Given the description of an element on the screen output the (x, y) to click on. 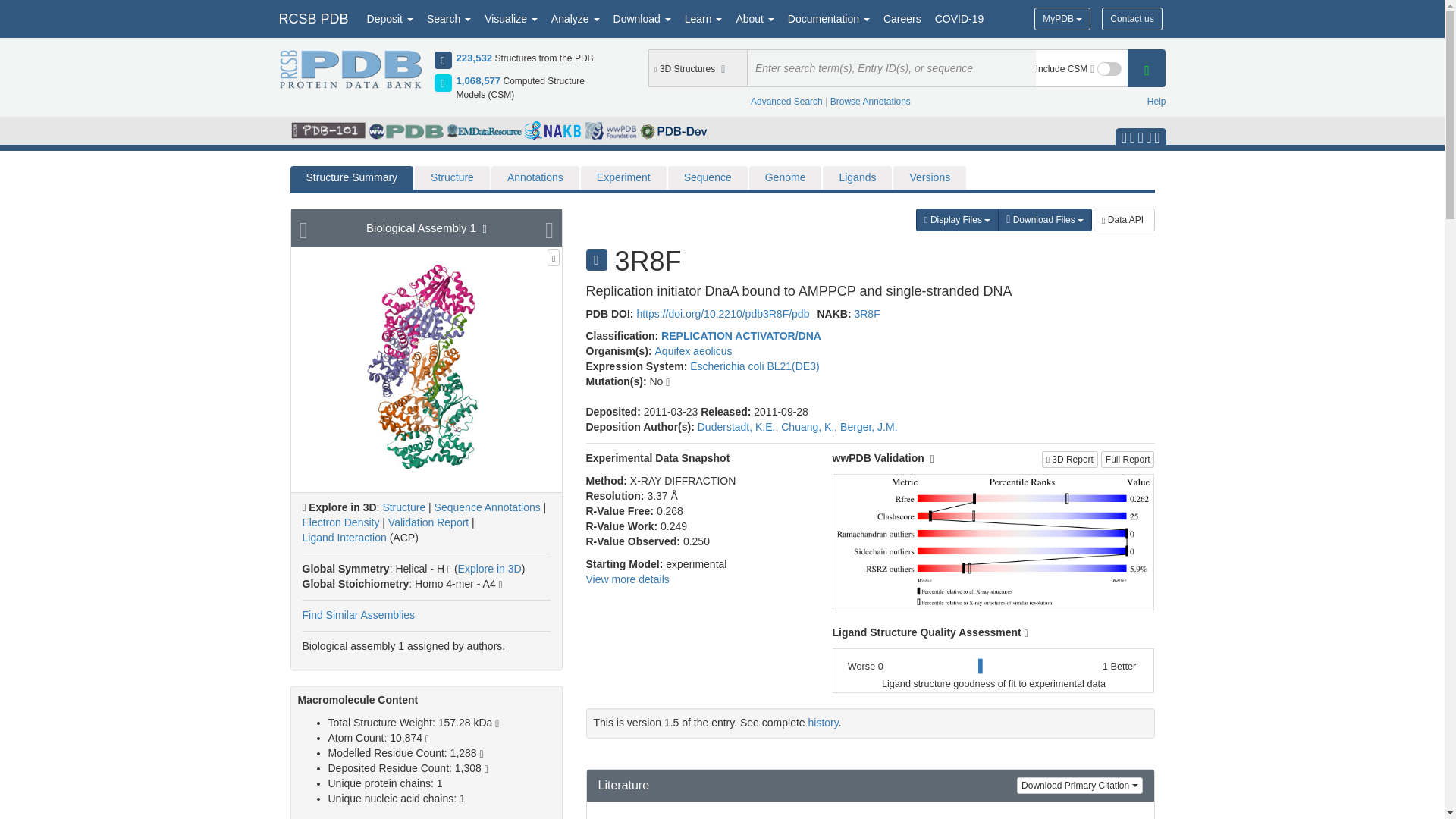
RCSB PDB (312, 18)
Search  (448, 18)
MyPDB (1061, 18)
Deposit  (389, 18)
